Given the description of an element on the screen output the (x, y) to click on. 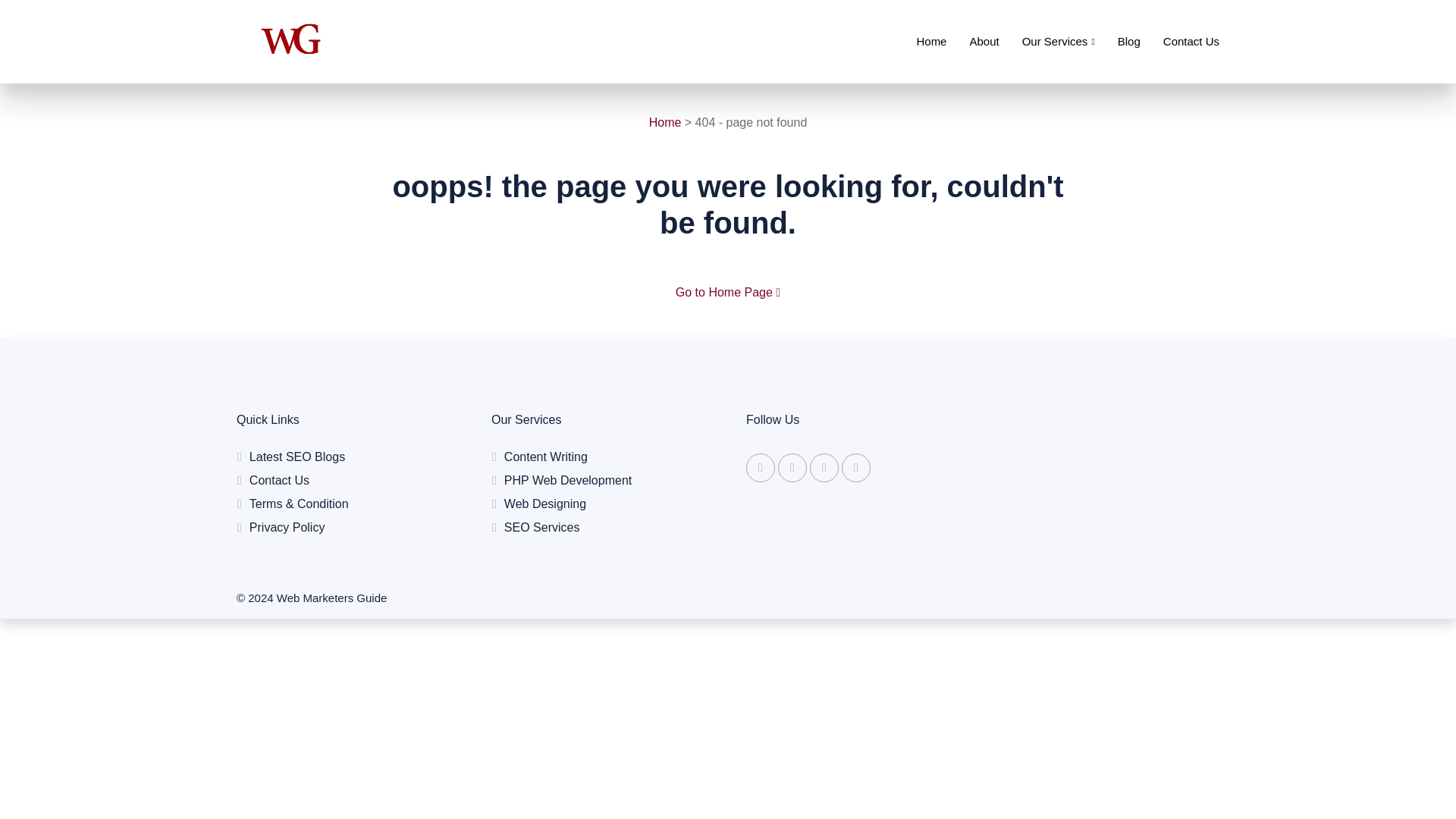
Our Services (1046, 41)
Content Writing (601, 456)
Go to Home Page (727, 291)
Home (665, 122)
Latest SEO Blogs (344, 456)
Blog (1117, 41)
Contact Us (1180, 41)
PHP Web Development (601, 480)
Home (919, 41)
About (972, 41)
